Given the description of an element on the screen output the (x, y) to click on. 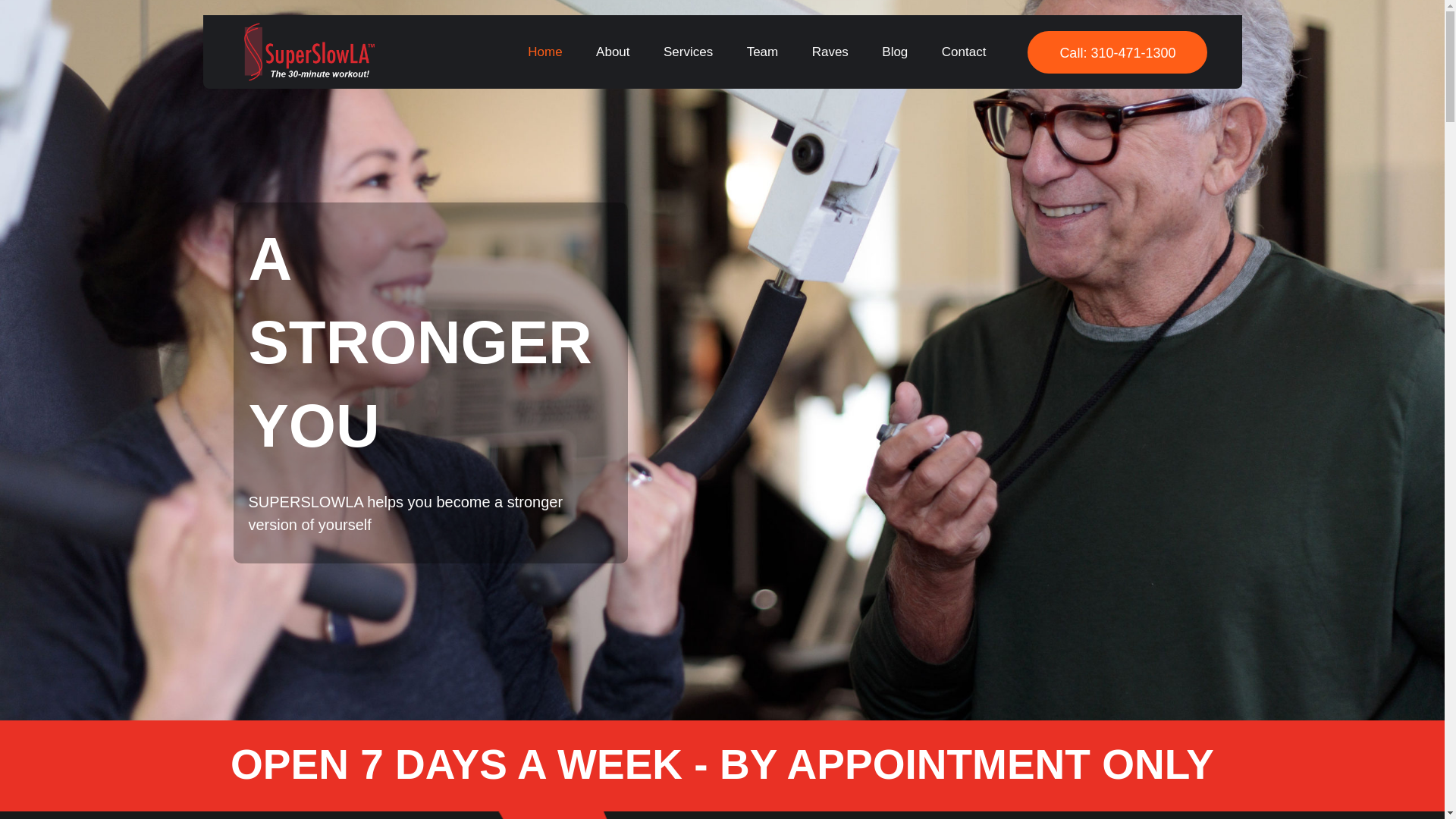
Services (687, 51)
